Given the description of an element on the screen output the (x, y) to click on. 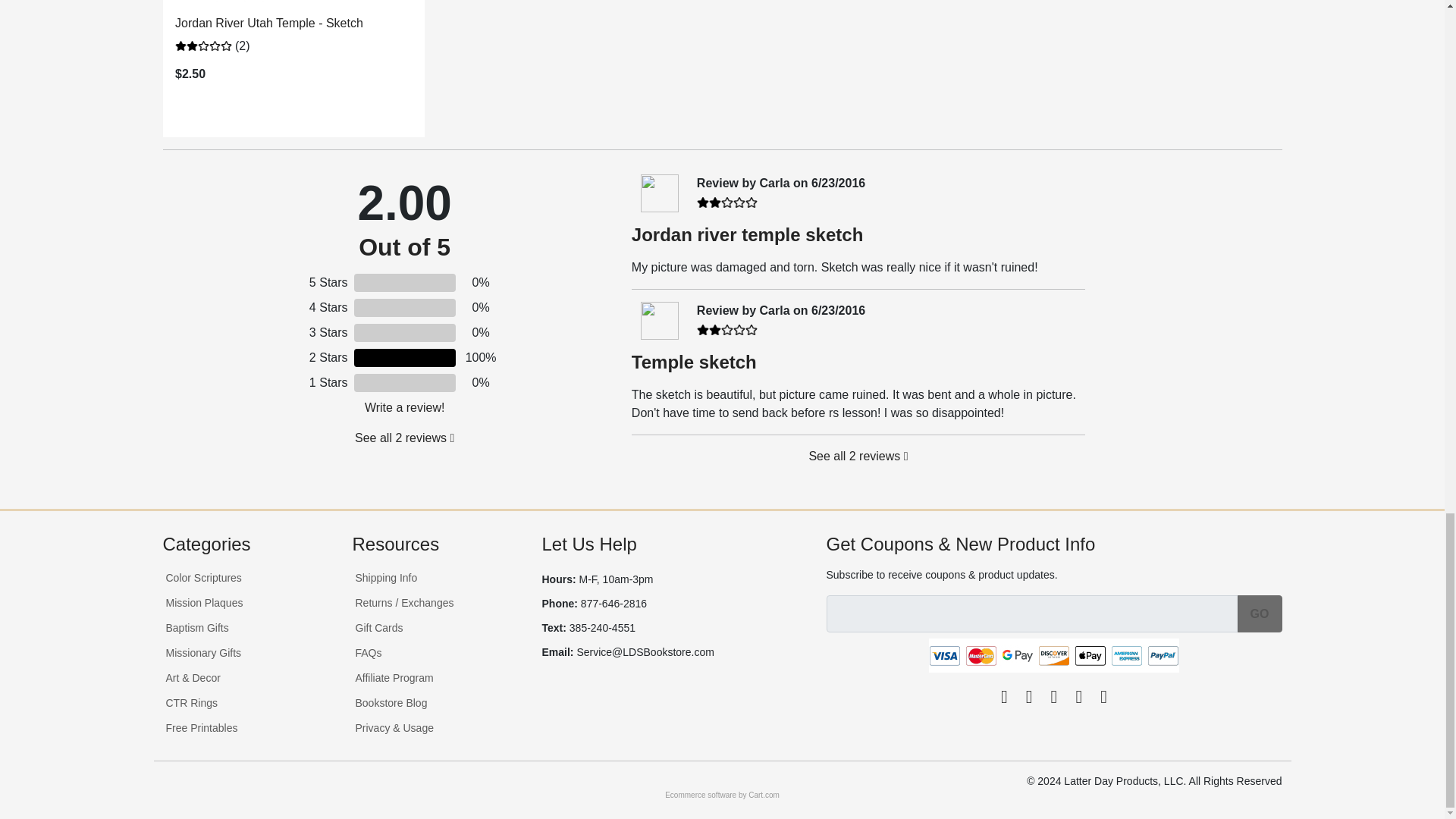
Go (1259, 613)
